Given the description of an element on the screen output the (x, y) to click on. 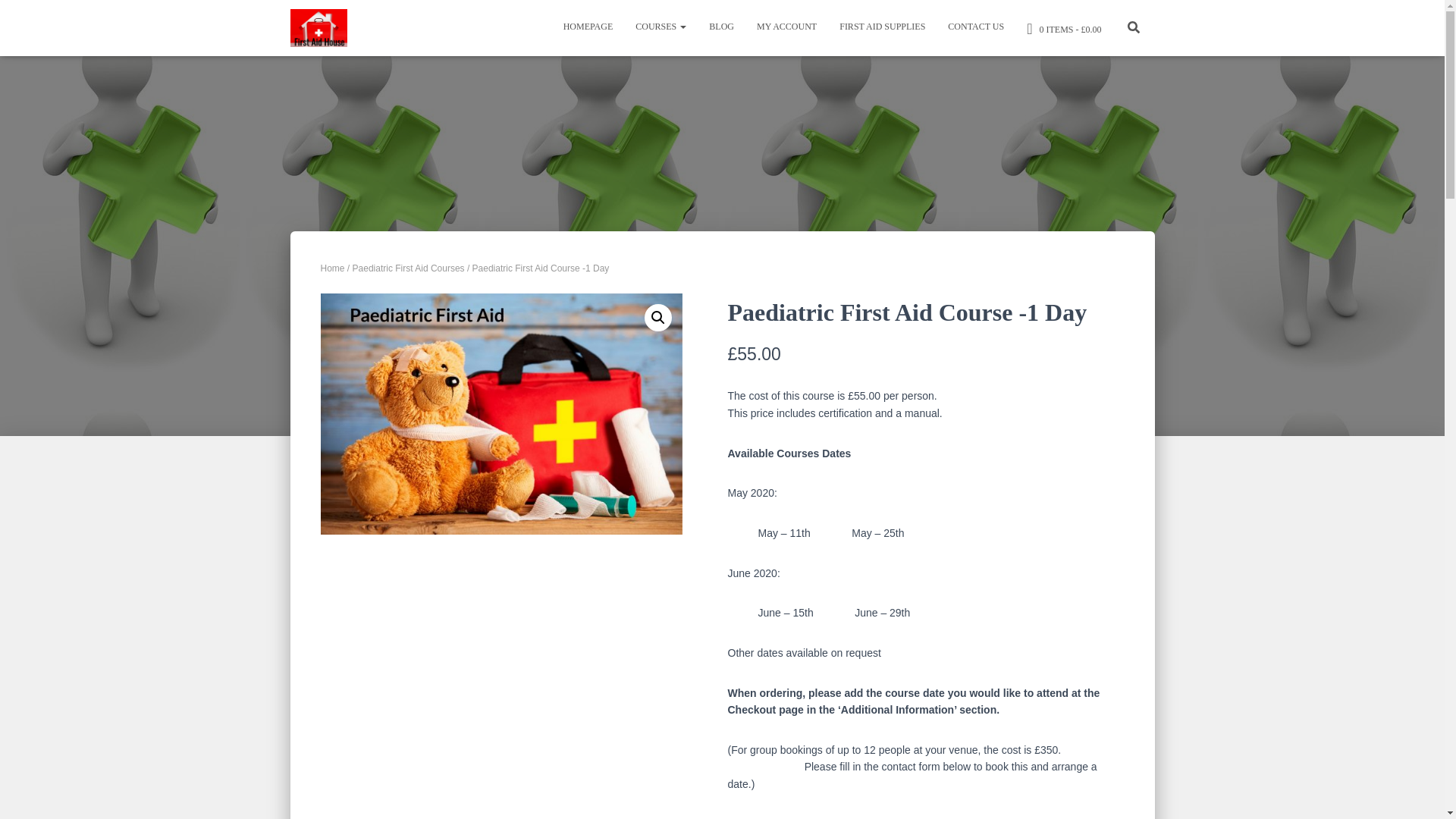
First Aid House (318, 27)
FIRST AID SUPPLIES (882, 26)
First Aid Supplies (882, 26)
Start shopping (1063, 27)
MY ACCOUNT (786, 26)
CONTACT US (975, 26)
HOMEPAGE (587, 26)
COURSES (660, 26)
Contact Us (975, 26)
Courses (660, 26)
